Given the description of an element on the screen output the (x, y) to click on. 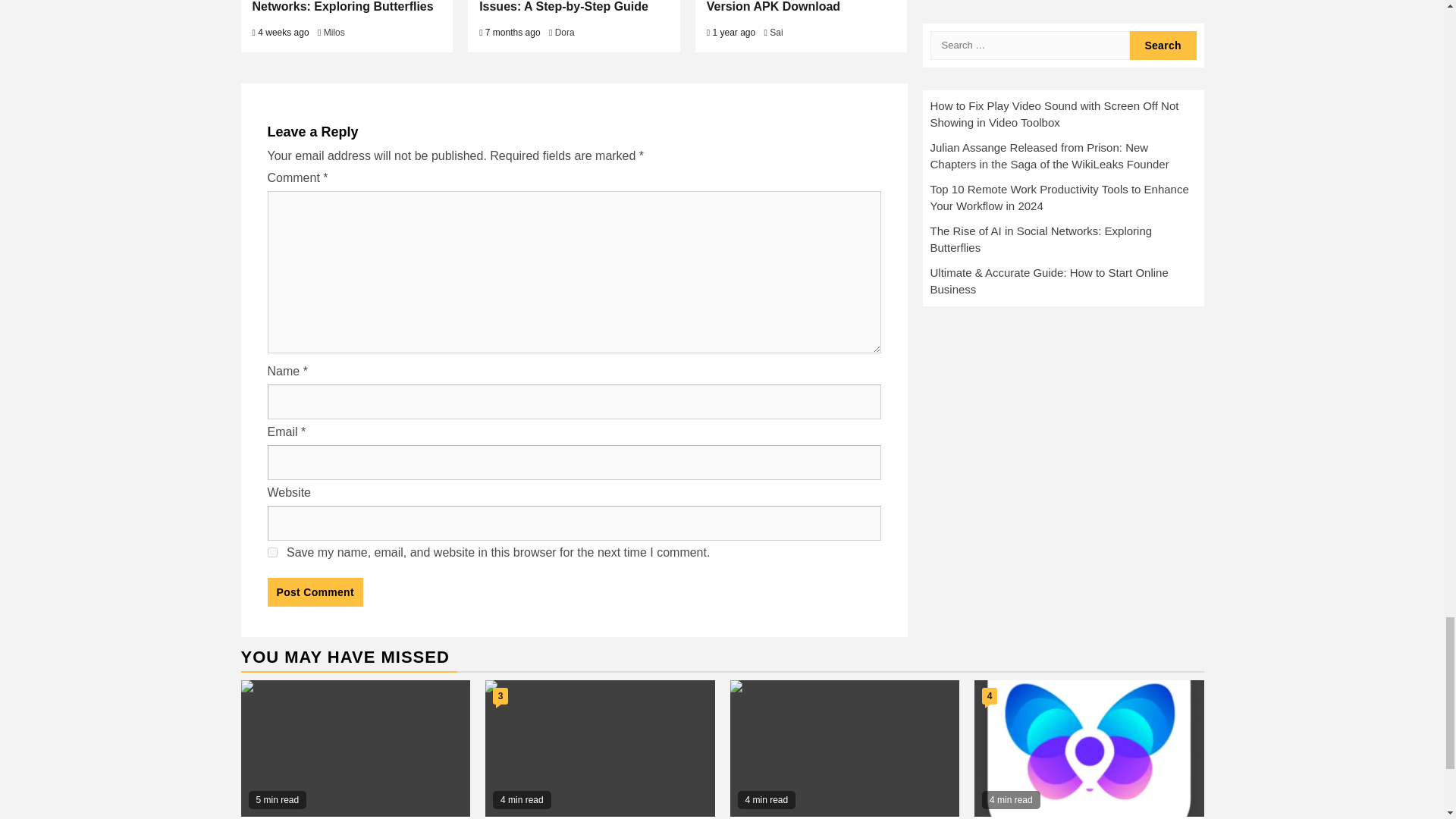
The Rise of AI in Social Networks: Exploring Butterflies (341, 6)
Resolving Monday.com Login Issues: A Step-by-Step Guide (564, 6)
Post Comment (314, 592)
Dora (564, 32)
Milos (334, 32)
yes (271, 552)
